Given the description of an element on the screen output the (x, y) to click on. 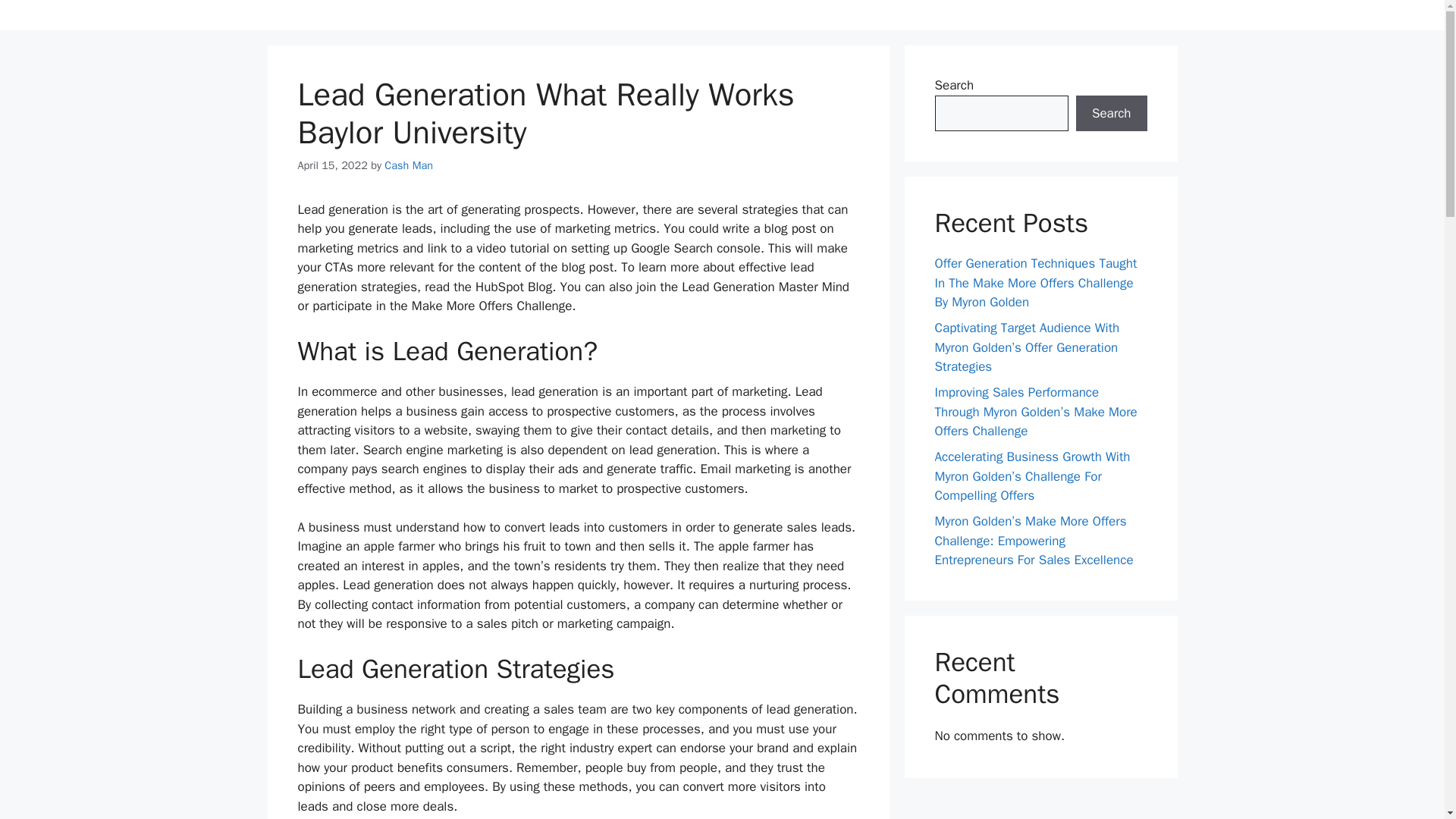
View all posts by Cash Man (408, 164)
Cash Man (408, 164)
Search (1111, 113)
